Given the description of an element on the screen output the (x, y) to click on. 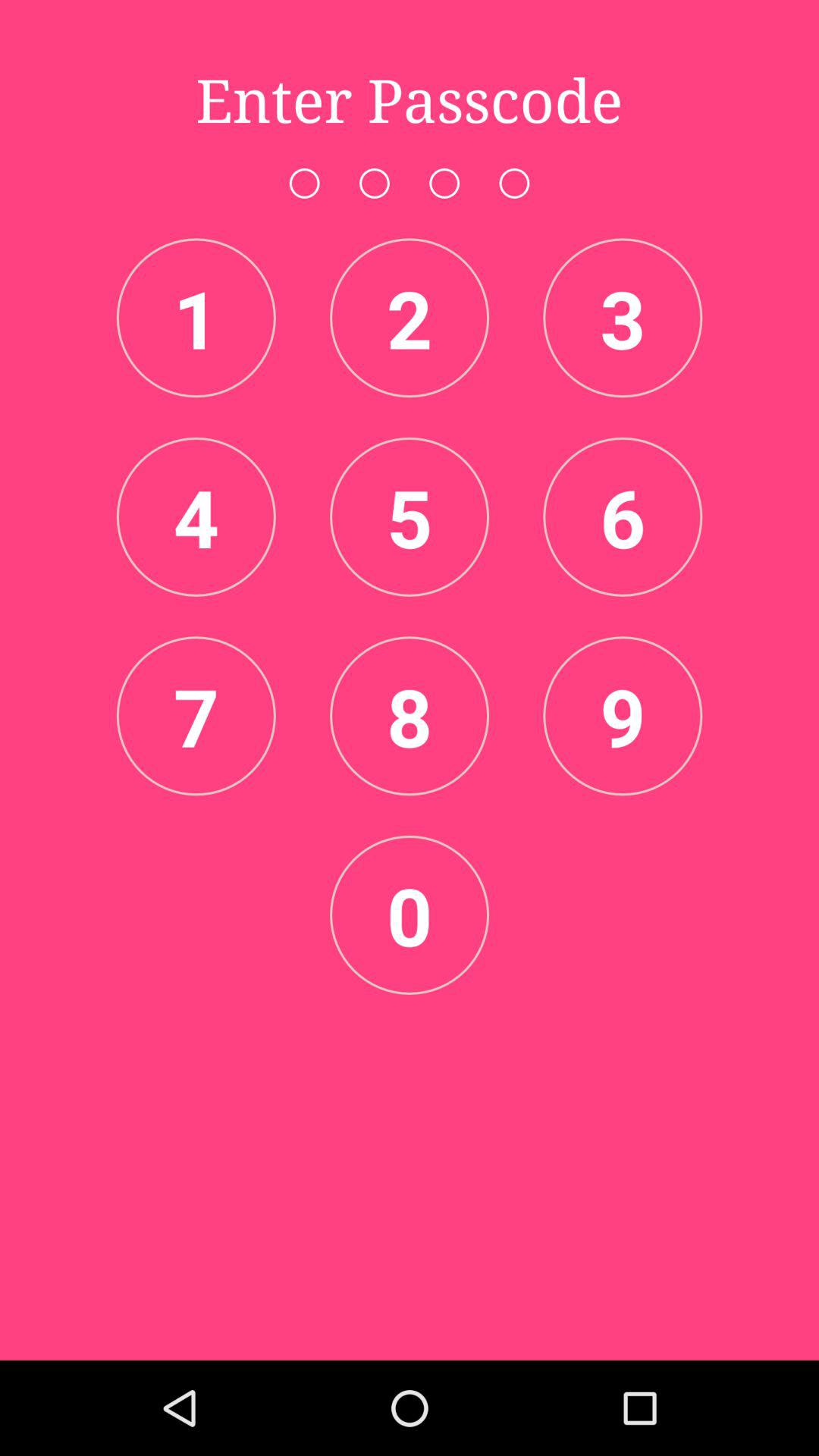
turn off the item to the right of the 5 icon (622, 516)
